Given the description of an element on the screen output the (x, y) to click on. 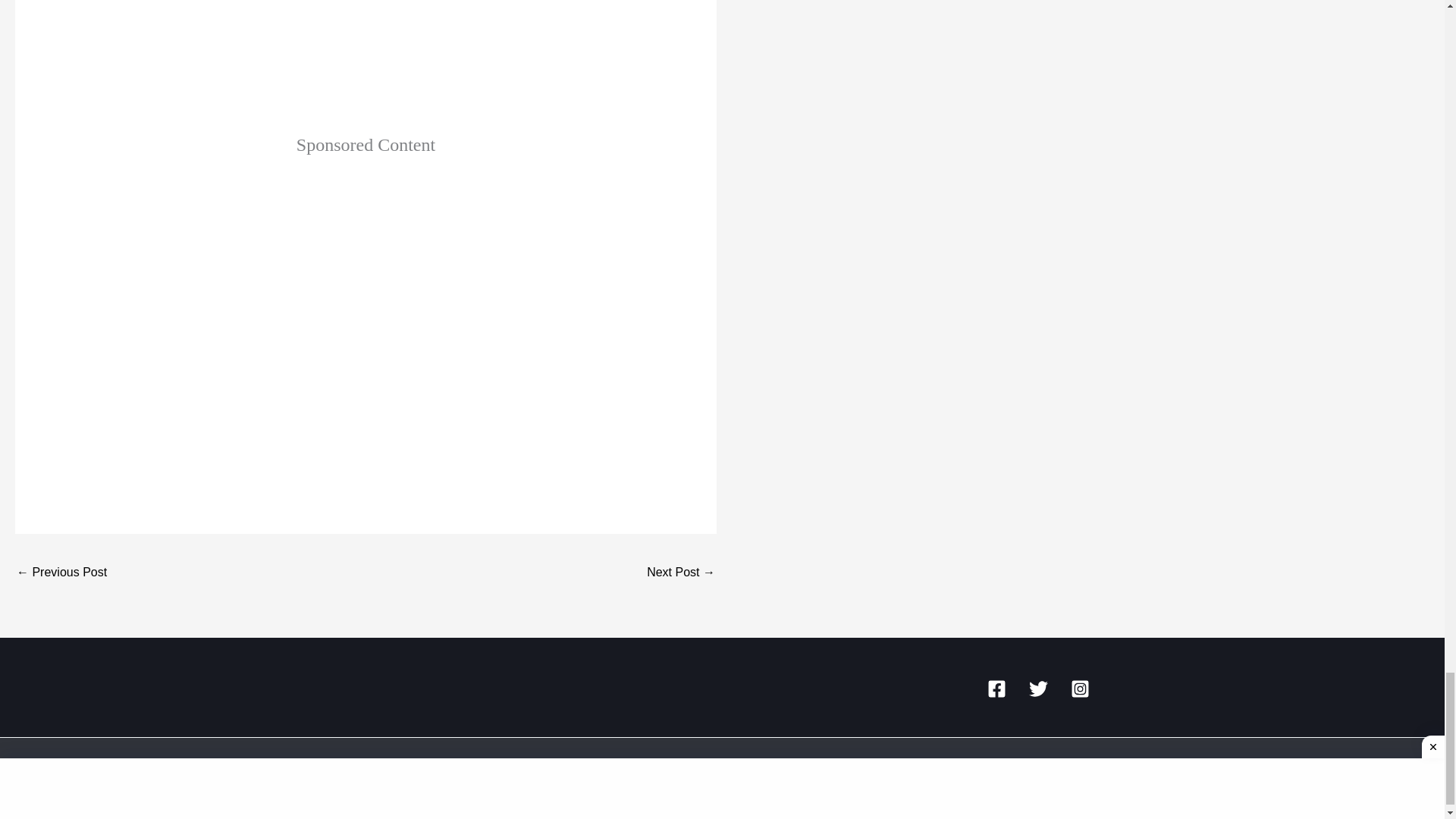
How to Clean Vomit from a Car - Best Guide (61, 573)
Easy Steering Wheel Cover Install (366, 60)
How to Clean the Garage Floor: Make Your Way (680, 573)
